Given the description of an element on the screen output the (x, y) to click on. 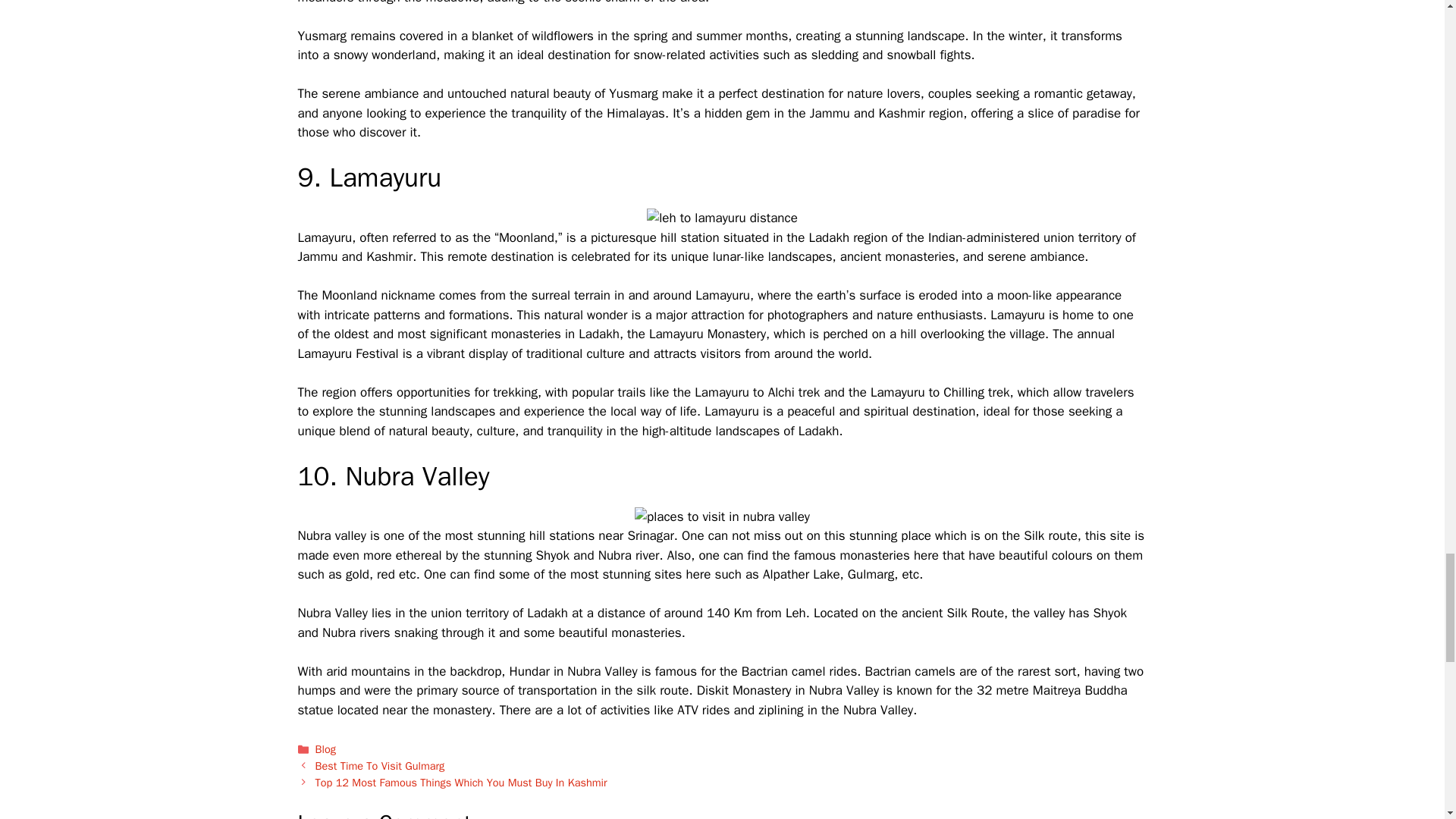
Best Time To Visit Gulmarg (380, 766)
Top 12 Most Famous Things Which You Must Buy In Kashmir (461, 782)
Blog (325, 748)
